Given the description of an element on the screen output the (x, y) to click on. 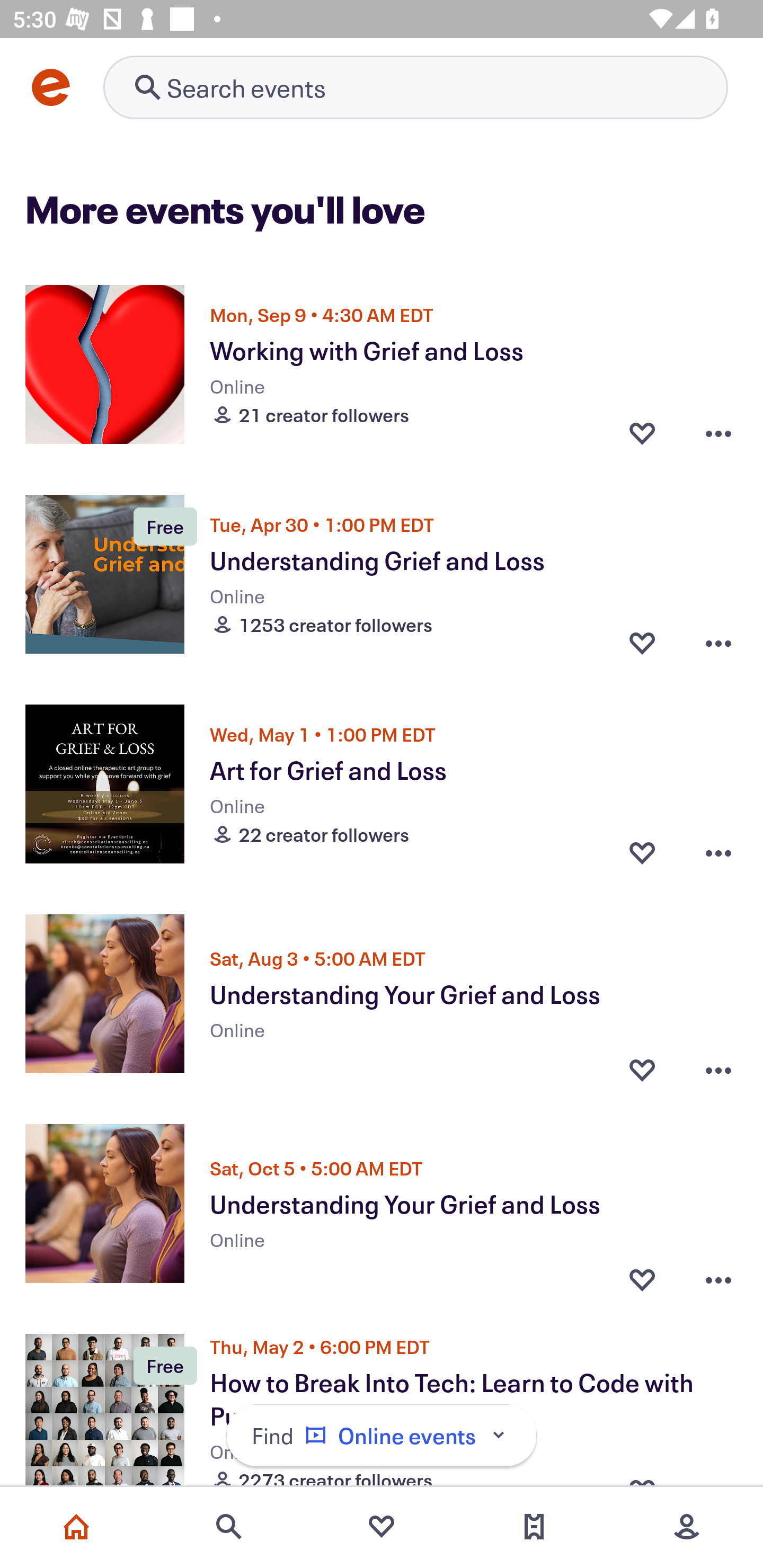
Retry's image Search events (415, 86)
Favorite button (642, 431)
Overflow menu button (718, 431)
Favorite button (642, 641)
Overflow menu button (718, 641)
Favorite button (642, 852)
Overflow menu button (718, 852)
Favorite button (642, 1065)
Overflow menu button (718, 1065)
Favorite button (642, 1274)
Overflow menu button (718, 1274)
Find Online events (381, 1435)
Home (76, 1526)
Search events (228, 1526)
Favorites (381, 1526)
Tickets (533, 1526)
More (686, 1526)
